Given the description of an element on the screen output the (x, y) to click on. 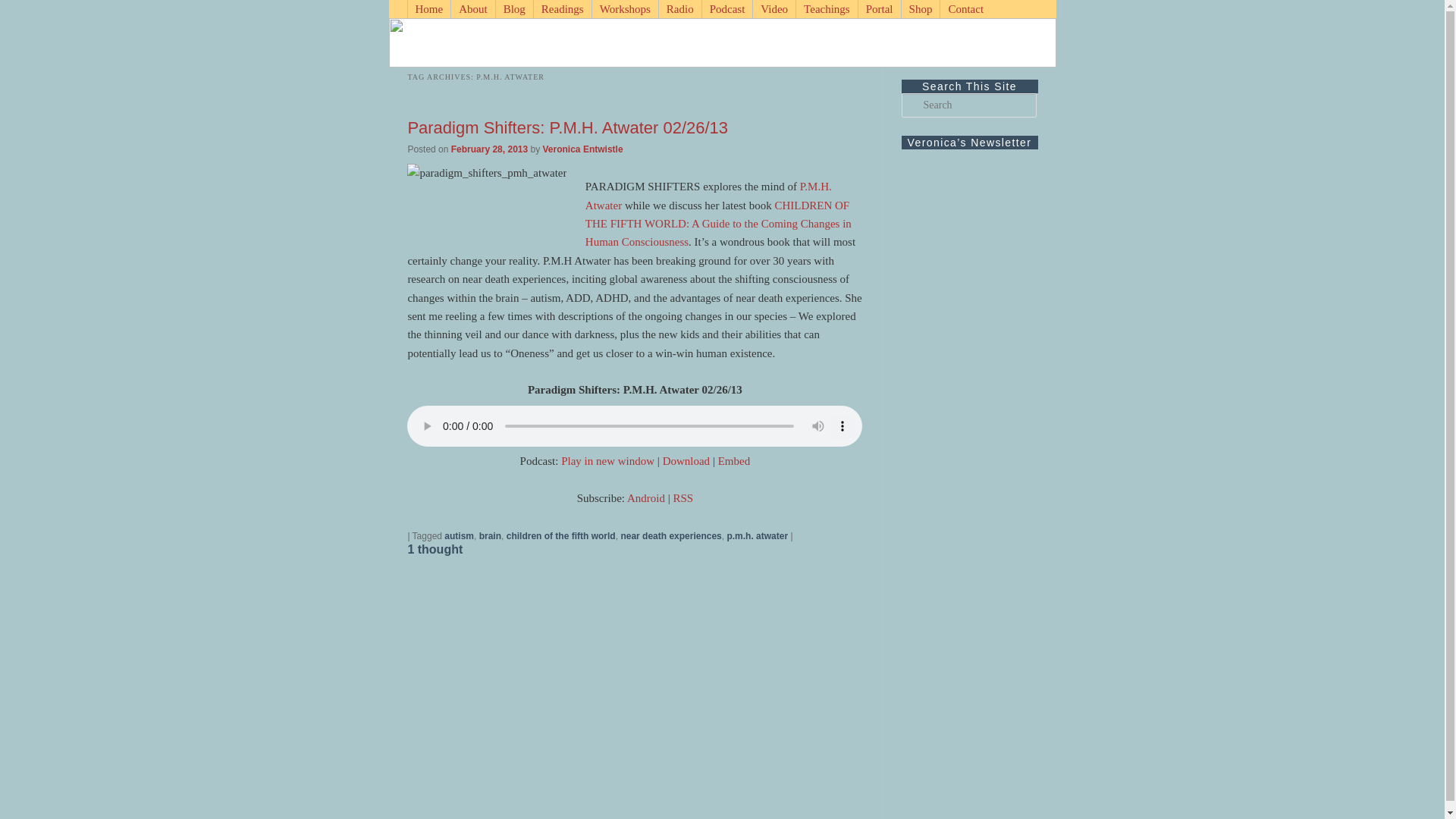
Skip to secondary content (473, 9)
Portal (879, 9)
Home (427, 9)
Skip to secondary content (473, 9)
Radio (679, 9)
Contact (965, 9)
Skip to primary content (467, 9)
Blog (513, 9)
Workshops (624, 9)
Videos by Veronica (773, 9)
